Given the description of an element on the screen output the (x, y) to click on. 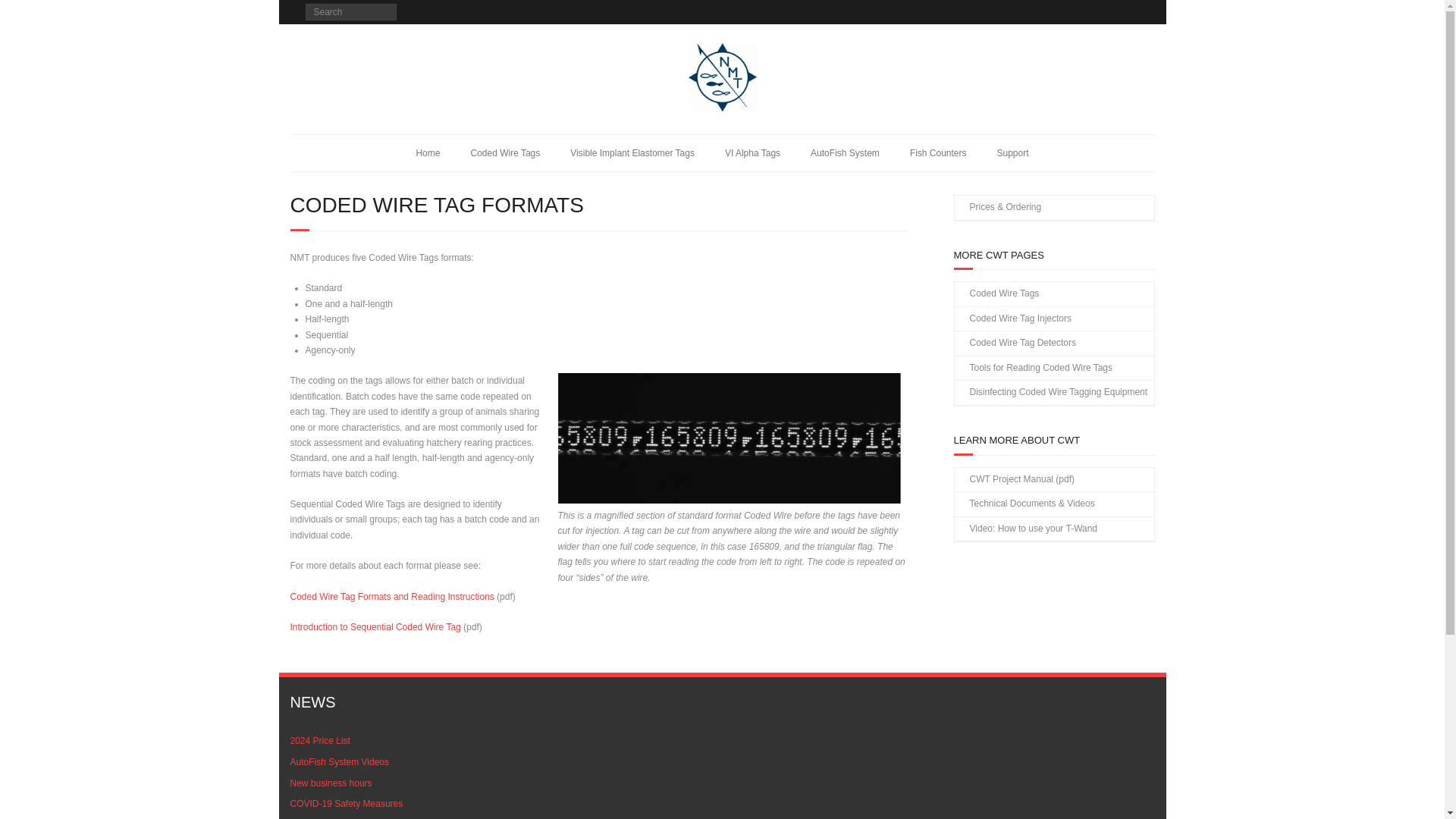
Disinfecting Coded Wire Tagging Equipment (1050, 392)
Tools for Reading Coded Wire Tags (1032, 368)
Introduction to Sequential Coded Wire Tag (374, 626)
Home (427, 153)
Coded Wire Tag Formats and Reading Instructions (391, 596)
Coded Wire Tag Injectors (1012, 319)
Coded Wire Tags (504, 153)
Visible Implant Elastomer Tags (632, 153)
Coded Wire Tag Detectors (1014, 343)
Fish Counters (938, 153)
Coded Wire Tags (996, 293)
Support (1012, 153)
AutoFish System (844, 153)
Search (25, 13)
VI Alpha Tags (752, 153)
